Given the description of an element on the screen output the (x, y) to click on. 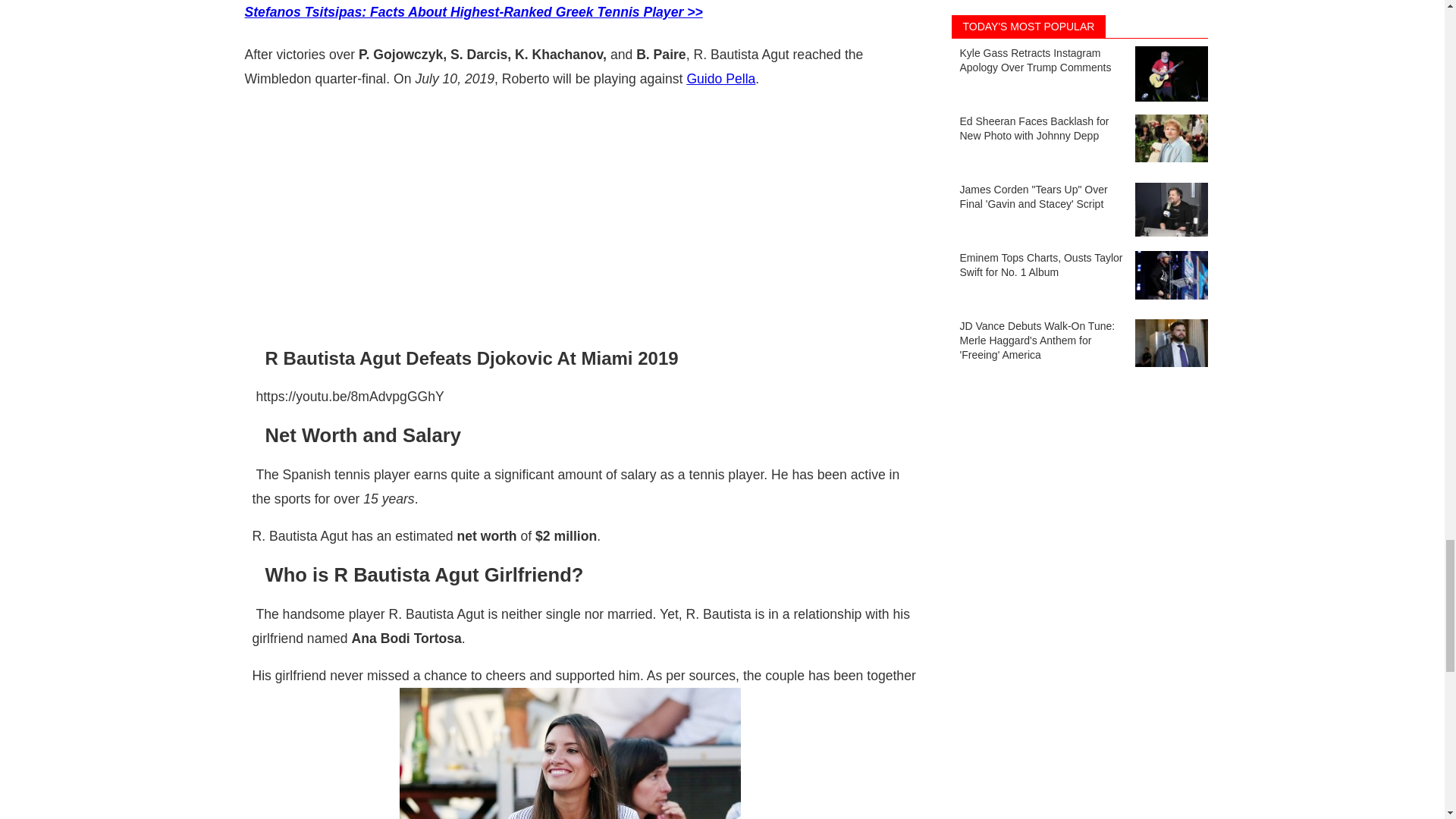
Guido Pella (720, 78)
